Given the description of an element on the screen output the (x, y) to click on. 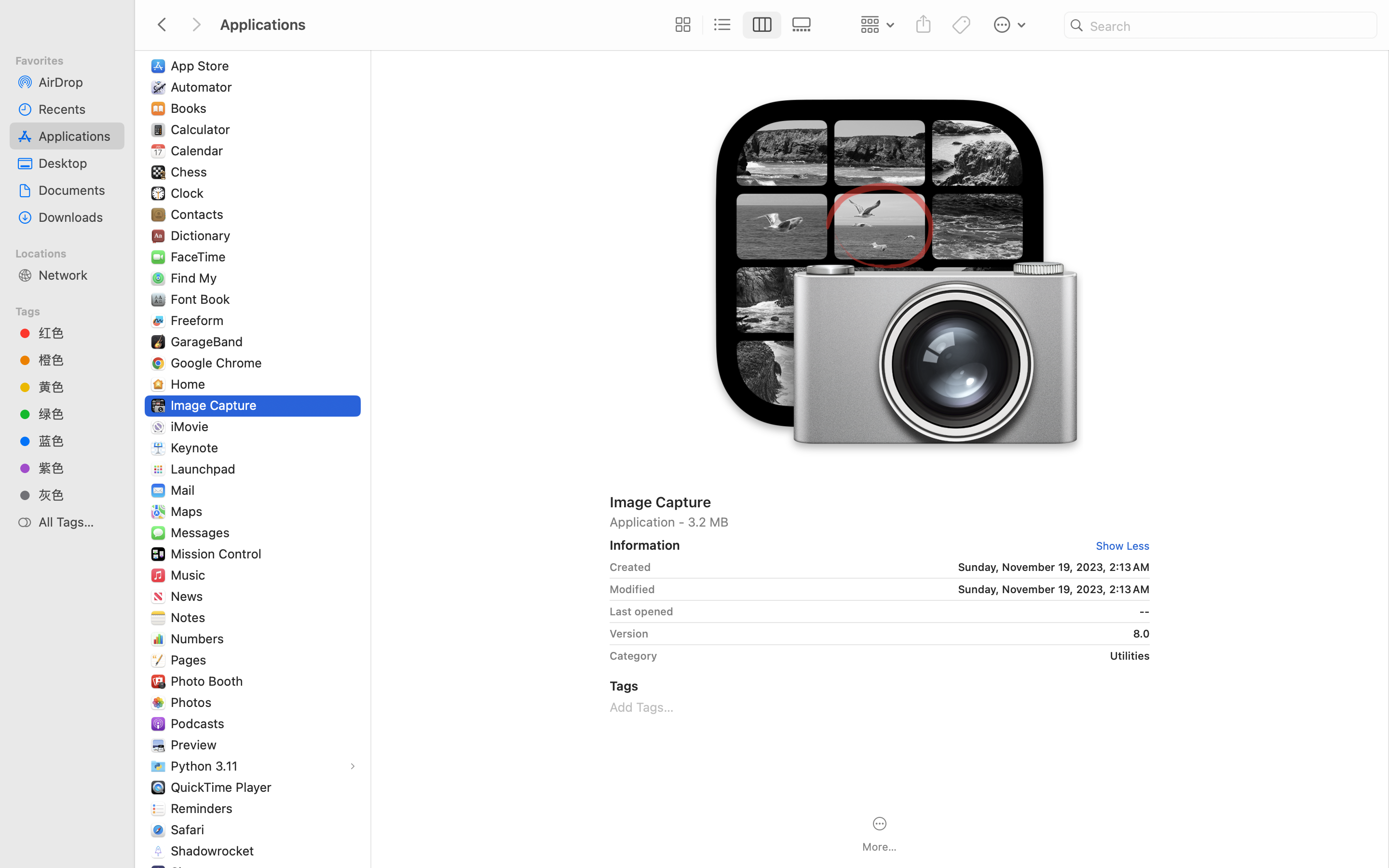
Messages Element type: AXTextField (201, 532)
Font Book Element type: AXTextField (202, 298)
Notes Element type: AXTextField (189, 616)
Image Capture Element type: AXTextField (215, 404)
Information Element type: AXStaticText (644, 544)
